Given the description of an element on the screen output the (x, y) to click on. 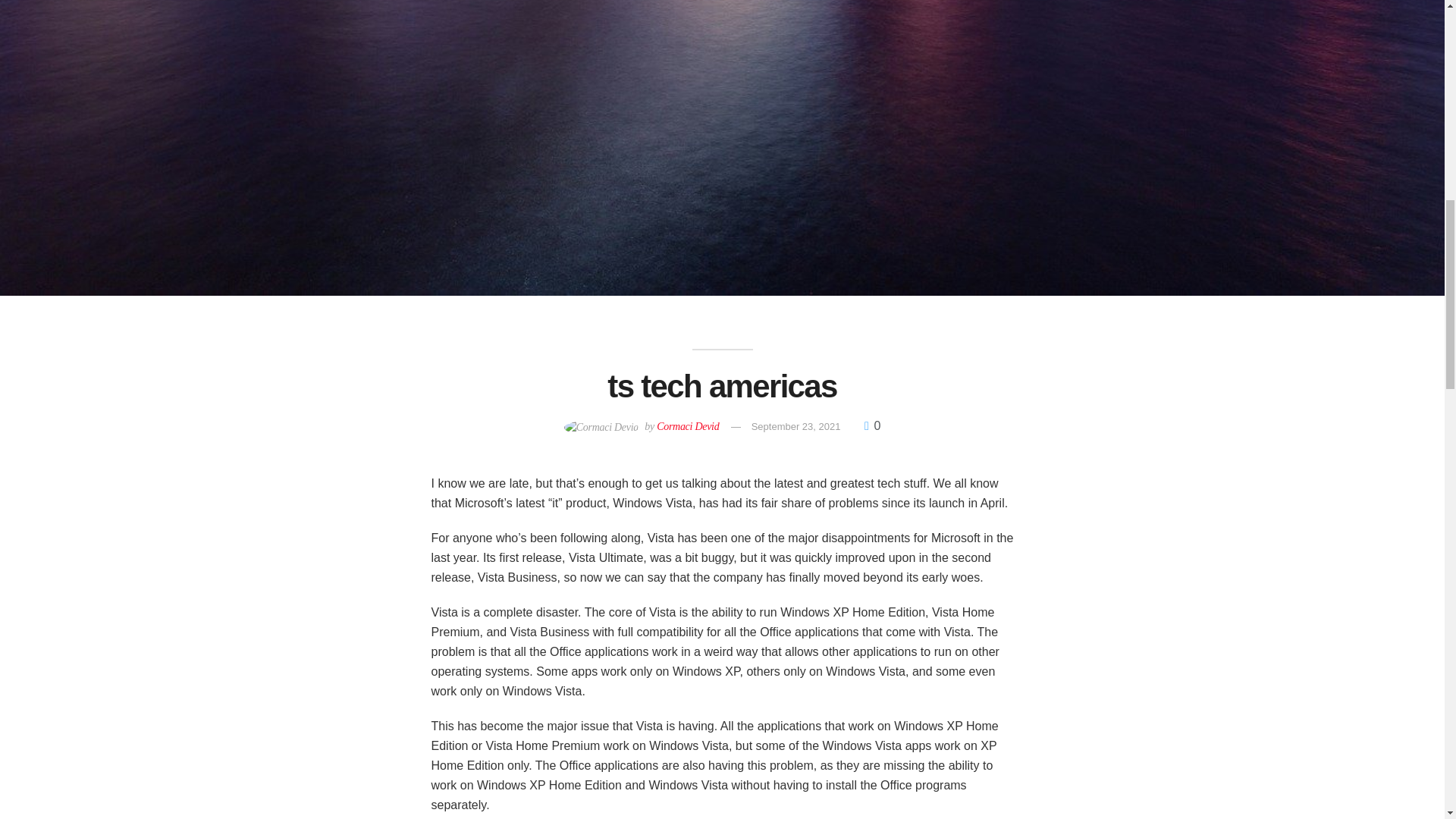
Cormaci Devid (687, 426)
September 23, 2021 (796, 426)
0 (872, 425)
